Given the description of an element on the screen output the (x, y) to click on. 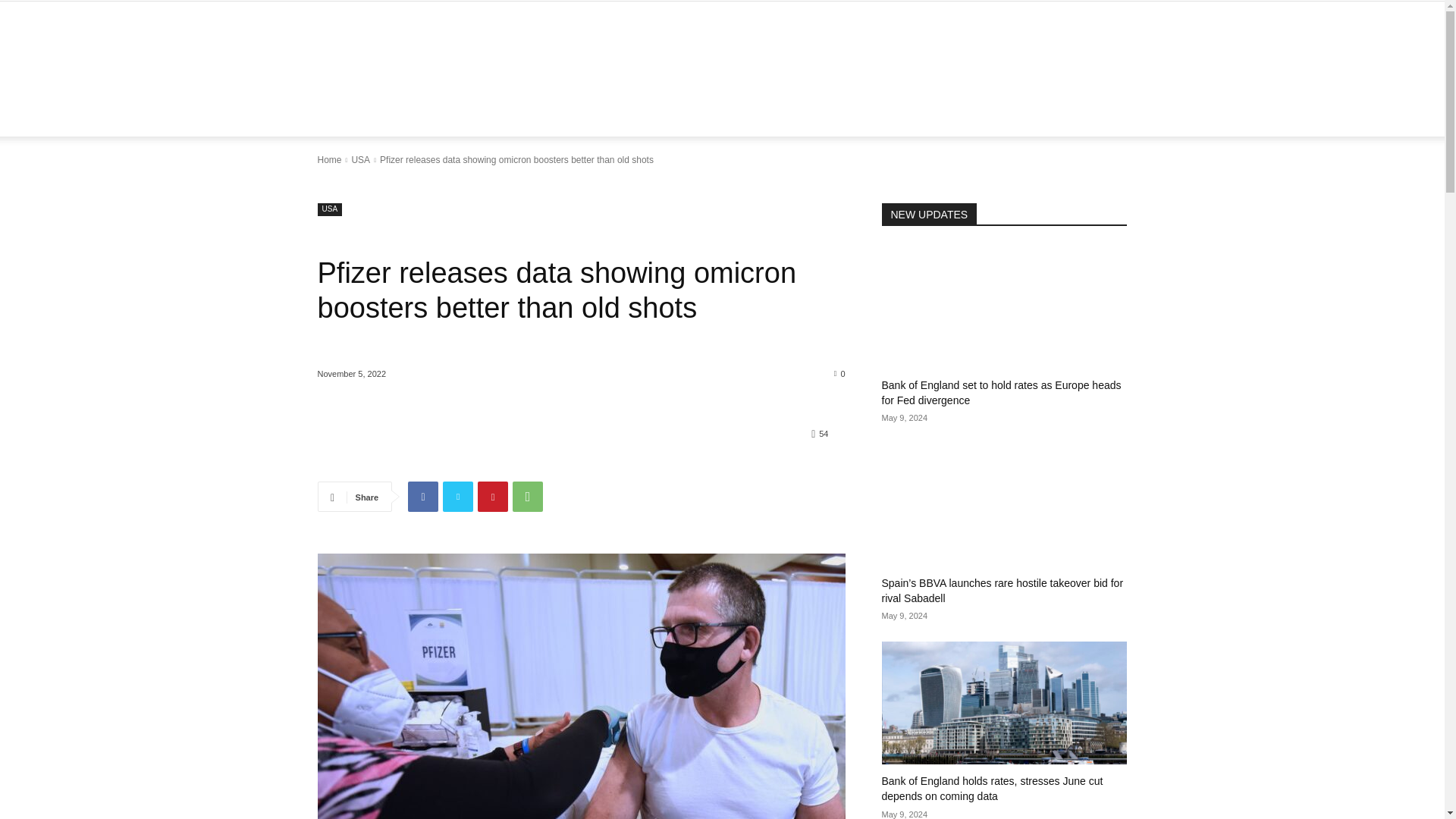
INVESTING (859, 117)
Search (1085, 178)
Twitter (457, 496)
Facebook (422, 496)
POLITICS (788, 117)
0 (839, 372)
TECHNOLOGY (638, 117)
Home (328, 159)
PRIVACY POLICY (948, 117)
CRYPTO CURRENCY (533, 117)
